Given the description of an element on the screen output the (x, y) to click on. 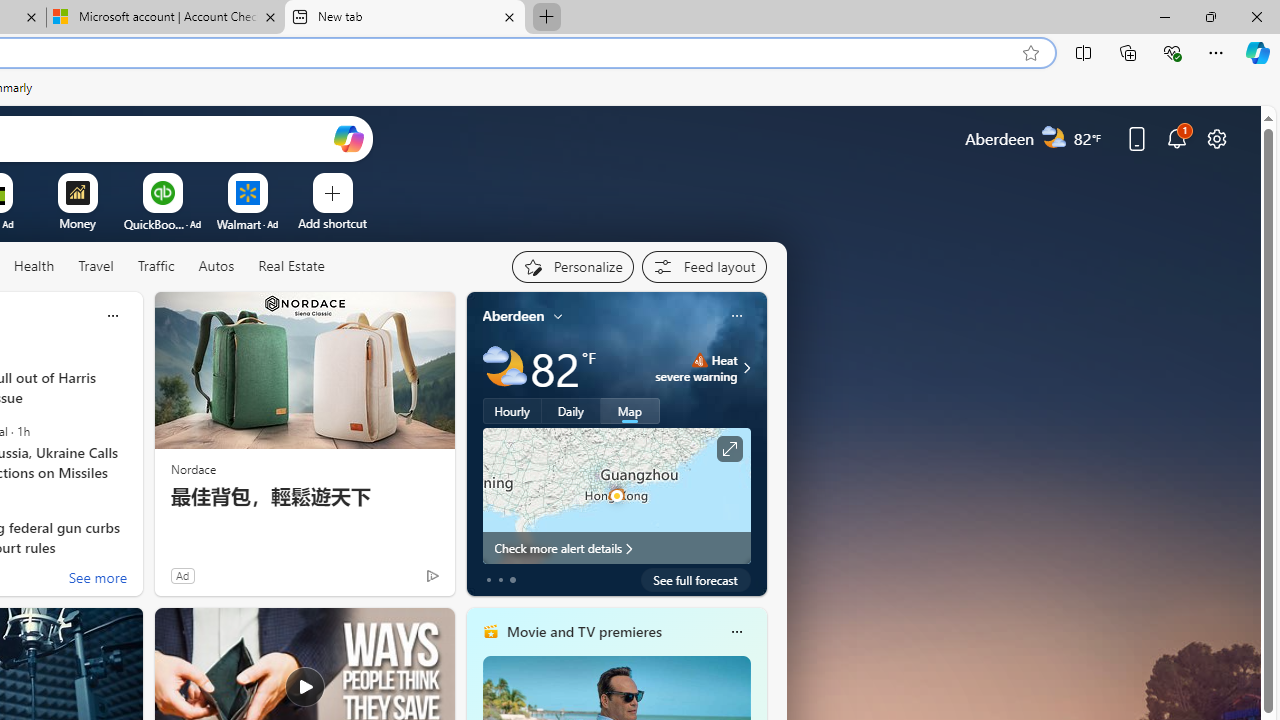
Ad (182, 575)
Traffic (155, 265)
Real Estate (290, 267)
Open Copilot (347, 138)
See more (96, 579)
More options (736, 631)
Traffic (155, 267)
Check more alert details (616, 547)
tab-1 (500, 579)
